Given the description of an element on the screen output the (x, y) to click on. 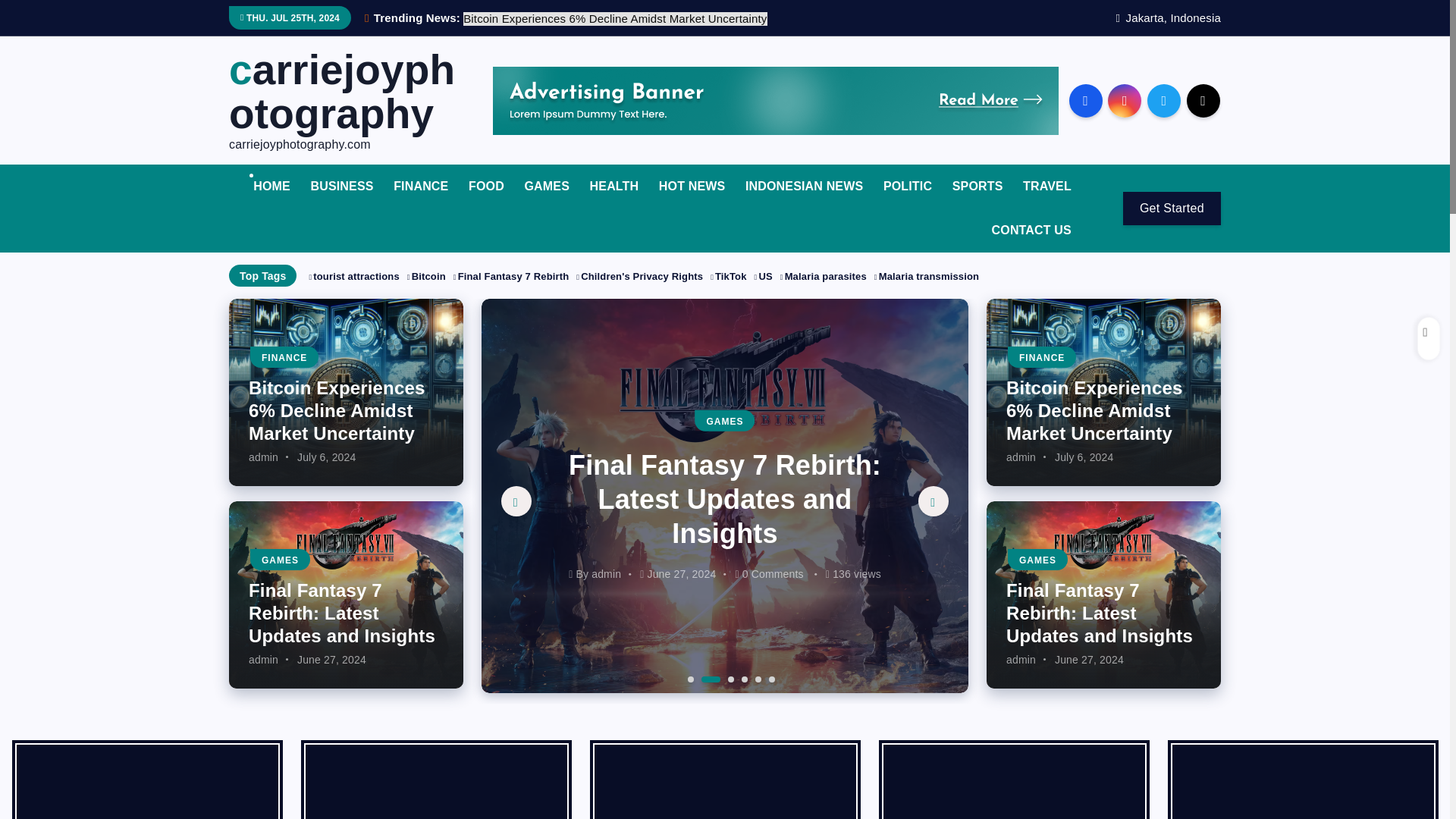
SPORTS (977, 186)
FINANCE (420, 186)
POLITIC (907, 186)
Get Started (1171, 208)
TRAVEL (1046, 186)
CONTACT US (1031, 230)
HOT NEWS (692, 186)
HOME (271, 186)
GAMES (546, 186)
carriejoyphotography (345, 92)
HOME (271, 186)
TRAVEL (1046, 186)
FINANCE (420, 186)
GAMES (546, 186)
POLITIC (907, 186)
